Given the description of an element on the screen output the (x, y) to click on. 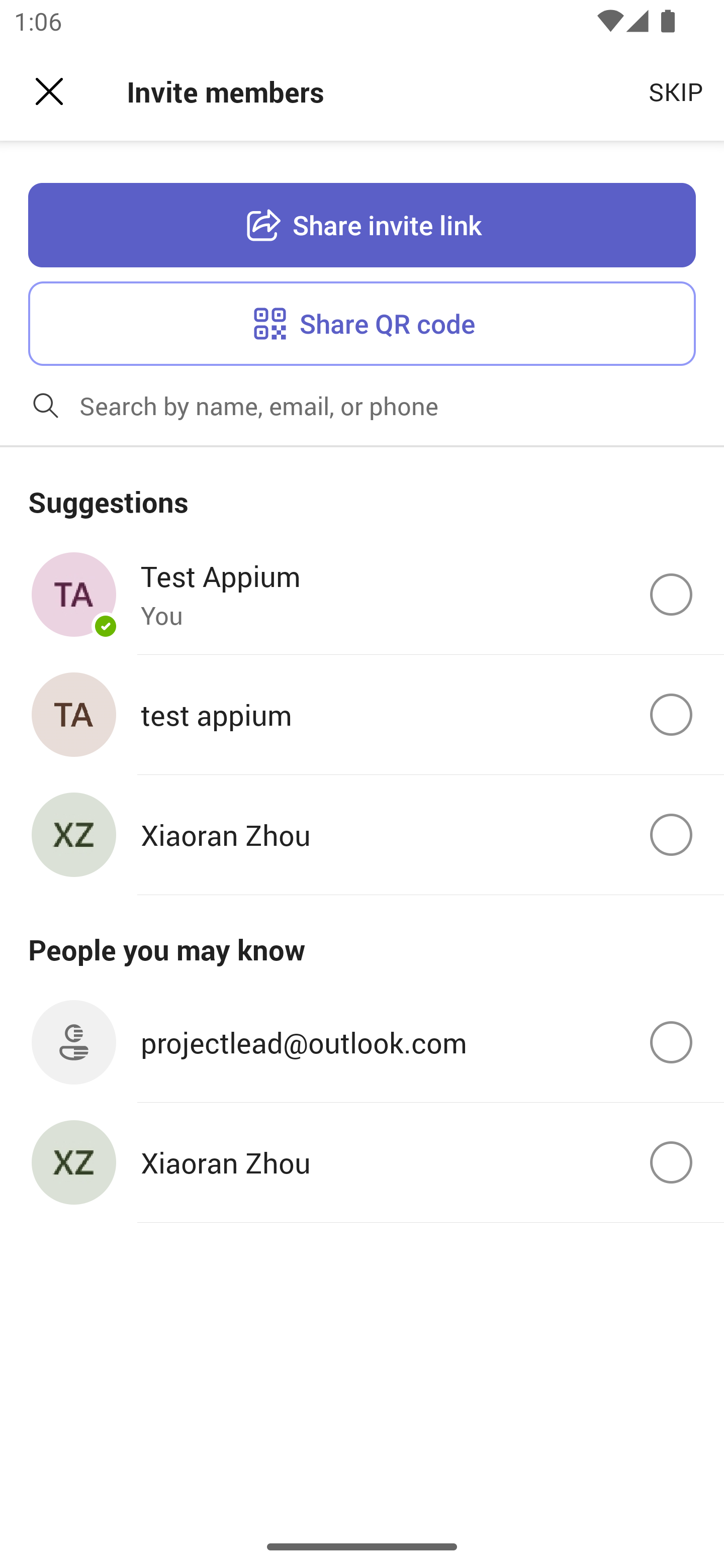
Dismiss (49, 91)
SKIP (675, 90)
Share invite link (361, 225)
Share QR code (361, 322)
Search by name, email, or phone (393, 405)
Suggestions section header Suggestions (362, 490)
